Given the description of an element on the screen output the (x, y) to click on. 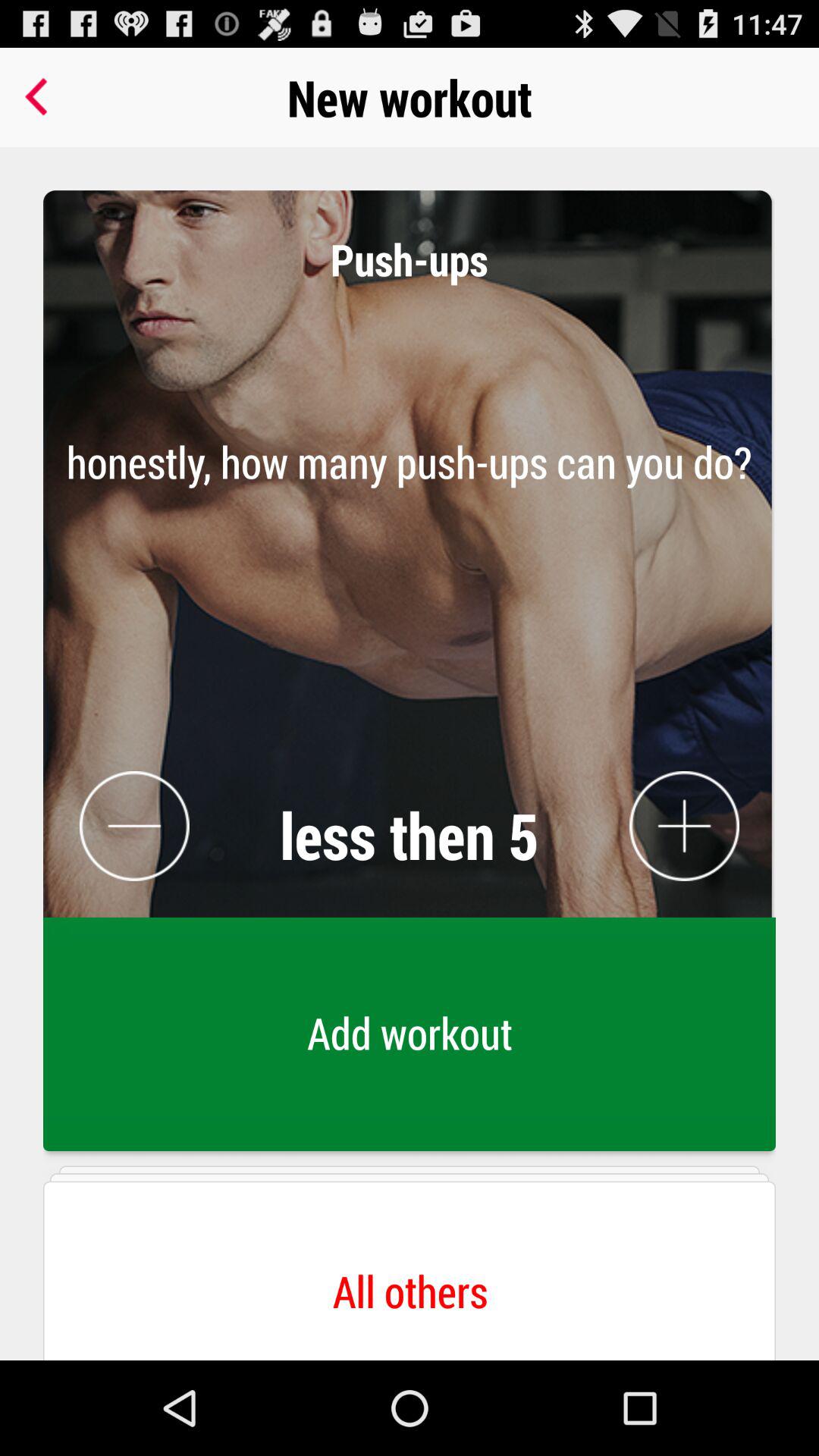
tap all others button (409, 1259)
